Given the description of an element on the screen output the (x, y) to click on. 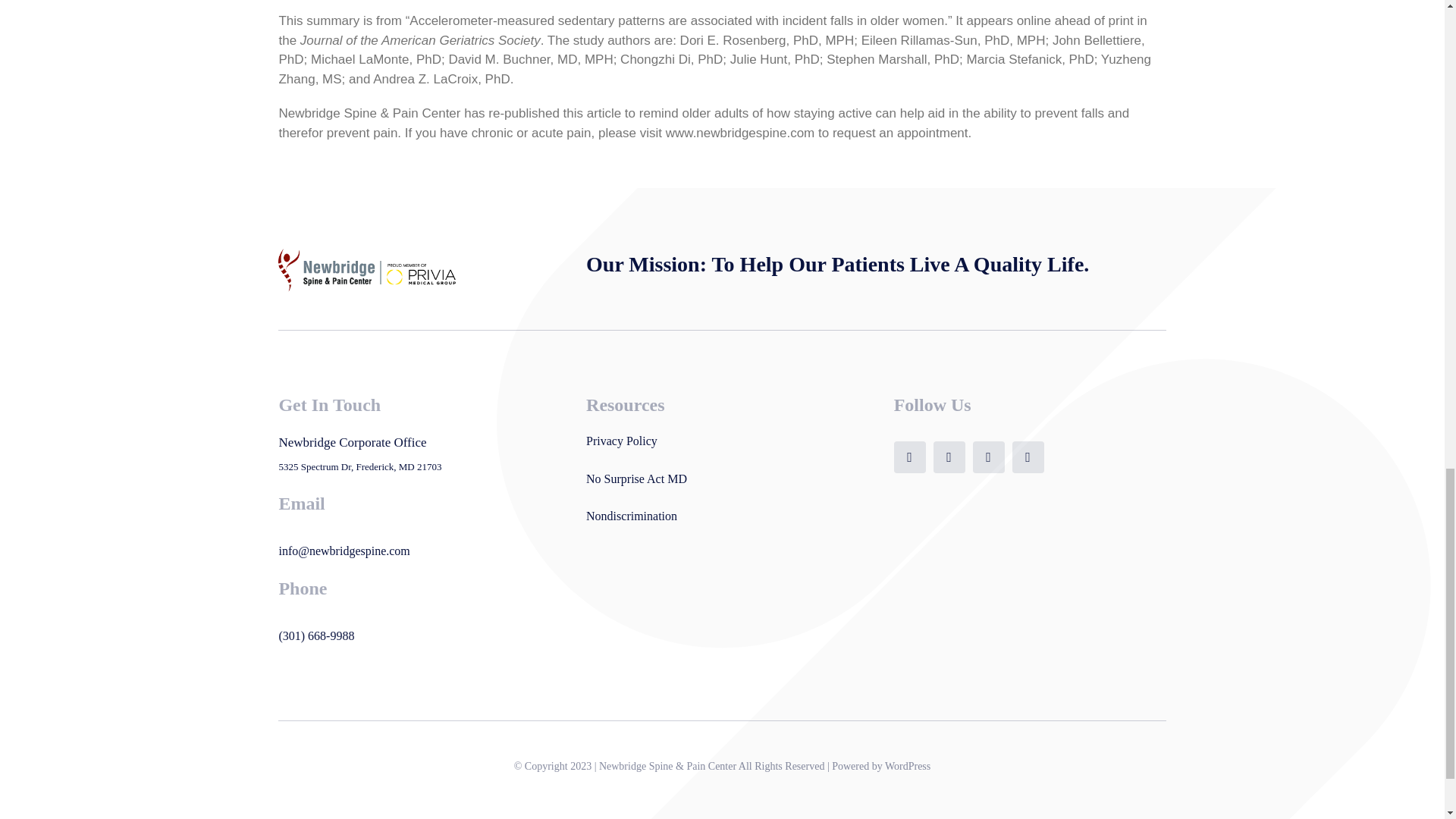
Instagram (988, 457)
Facebook (909, 457)
LinkedIn (1027, 457)
X (949, 457)
